Given the description of an element on the screen output the (x, y) to click on. 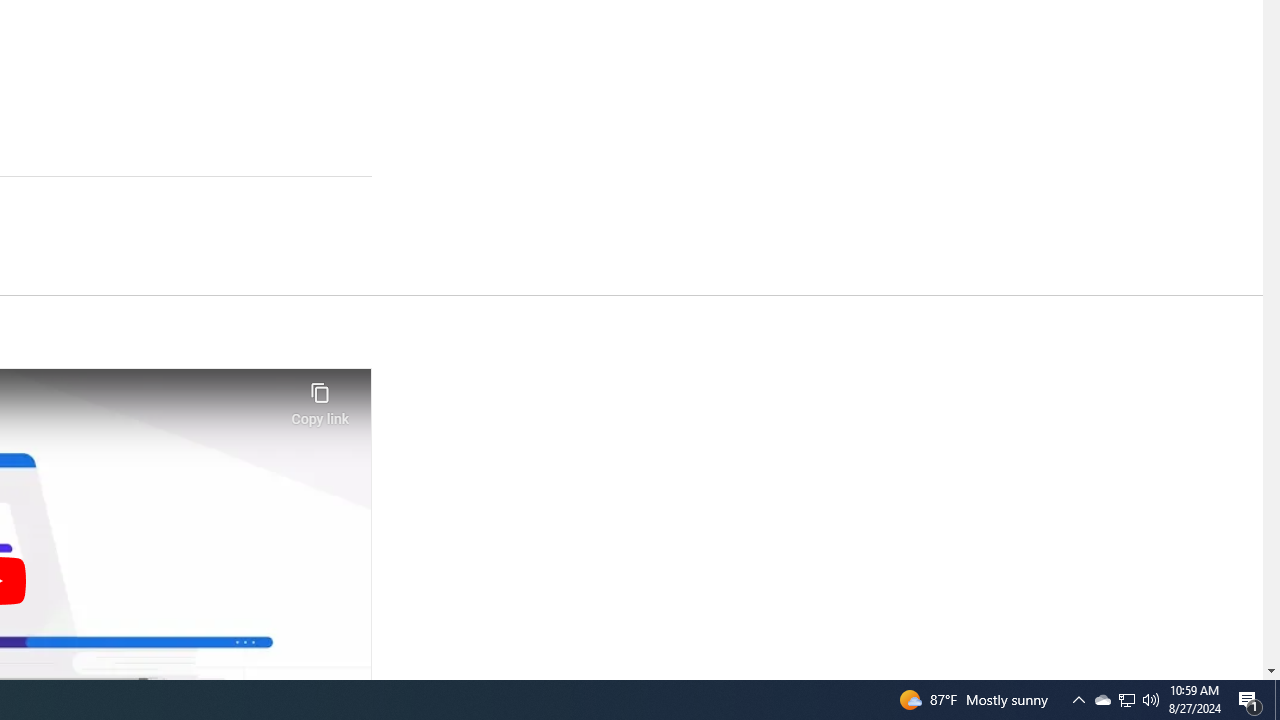
Copy link (319, 398)
